Given the description of an element on the screen output the (x, y) to click on. 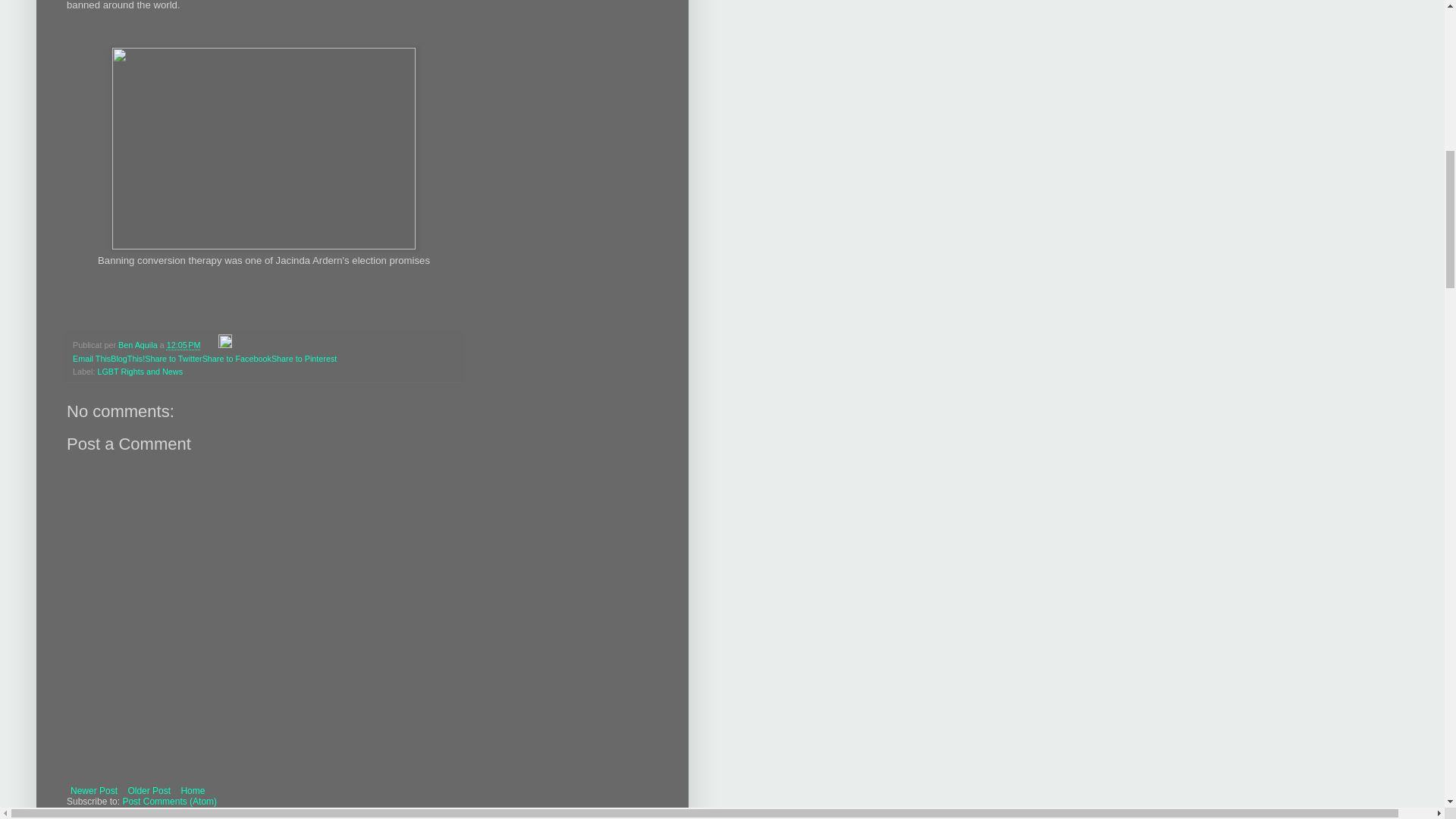
LGBT Rights and News (140, 370)
Newer Post (93, 791)
Newer Post (93, 791)
Older Post (148, 791)
BlogThis! (127, 358)
Older Post (148, 791)
Share to Facebook (236, 358)
Email This (91, 358)
permanent link (183, 344)
Share to Pinterest (303, 358)
Email This (91, 358)
Edit Post (224, 344)
Home (192, 791)
Share to Twitter (173, 358)
